Given the description of an element on the screen output the (x, y) to click on. 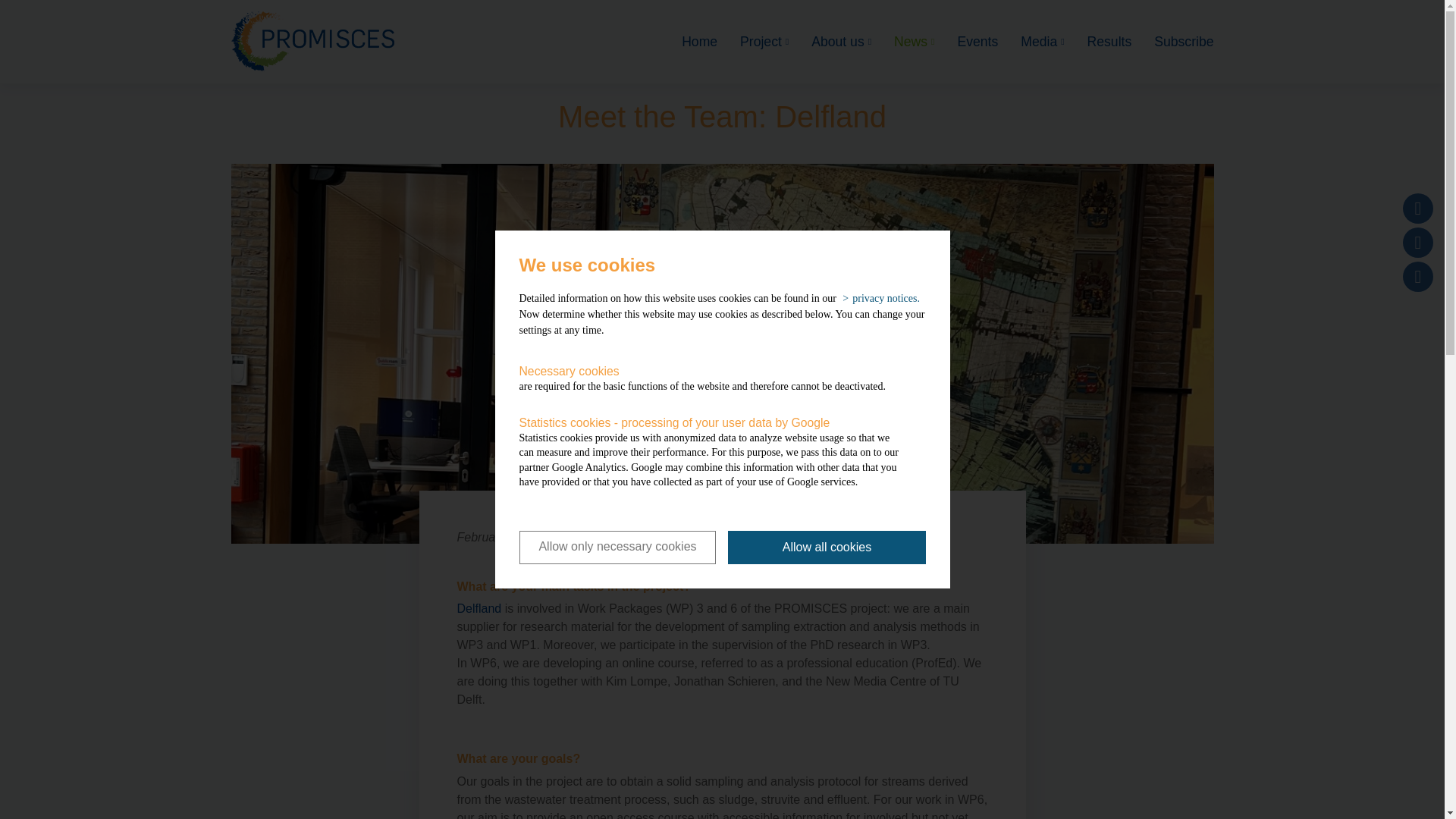
Media (1030, 41)
About us (829, 41)
Results (1098, 41)
Events (965, 41)
Allow all cookies (826, 547)
Home (688, 41)
News (902, 41)
Delfland (478, 608)
Allow only necessary cookies (617, 547)
Project (753, 41)
privacy notices. (879, 298)
Subscribe (1171, 41)
